Given the description of an element on the screen output the (x, y) to click on. 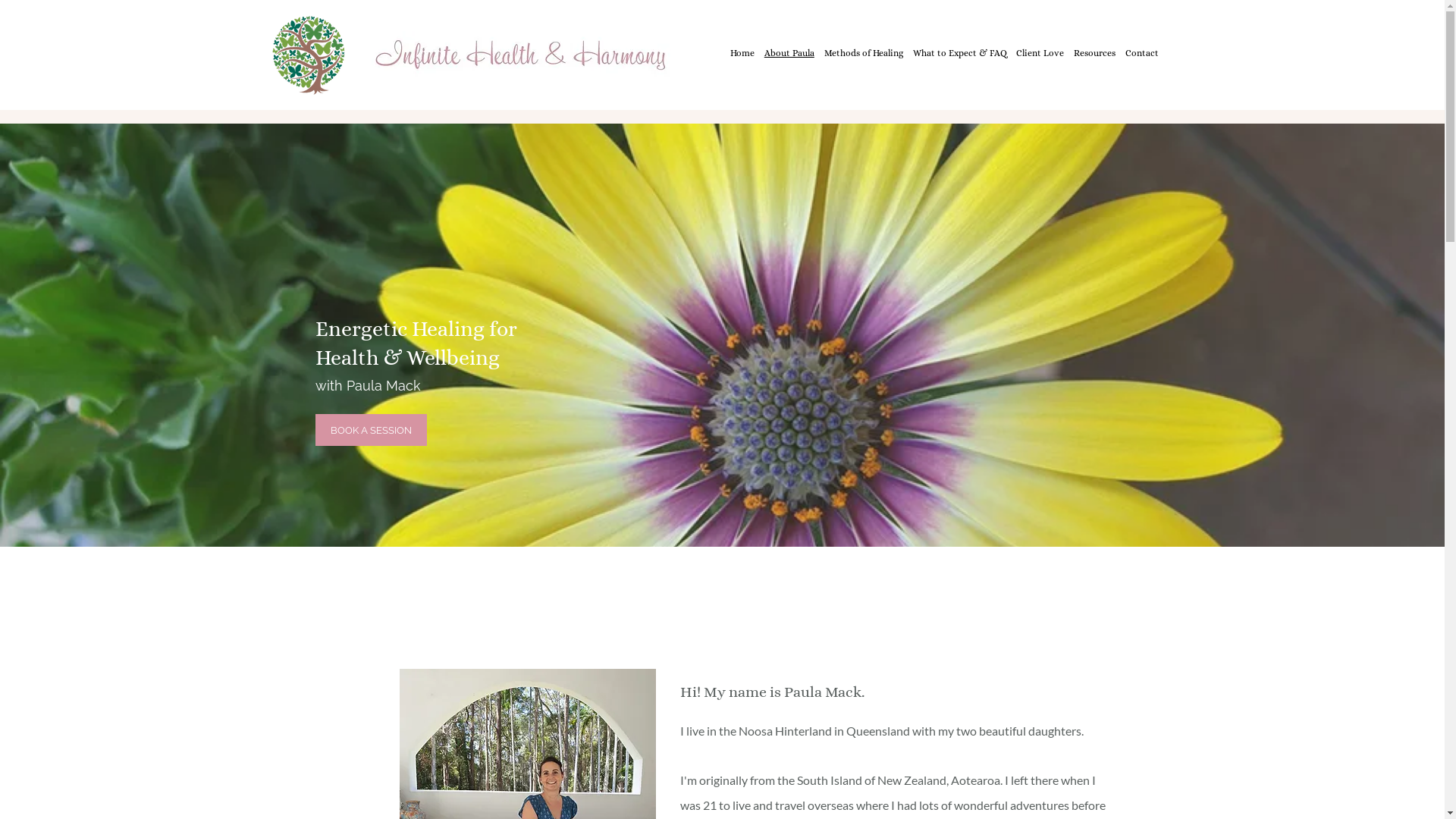
Methods of Healing Element type: text (863, 52)
Client Love Element type: text (1040, 52)
Resources Element type: text (1094, 52)
About Paula Element type: text (789, 52)
Contact Element type: text (1142, 52)
What to Expect & FAQ Element type: text (959, 52)
Home Element type: text (741, 52)
BOOK A SESSION Element type: text (370, 429)
